Given the description of an element on the screen output the (x, y) to click on. 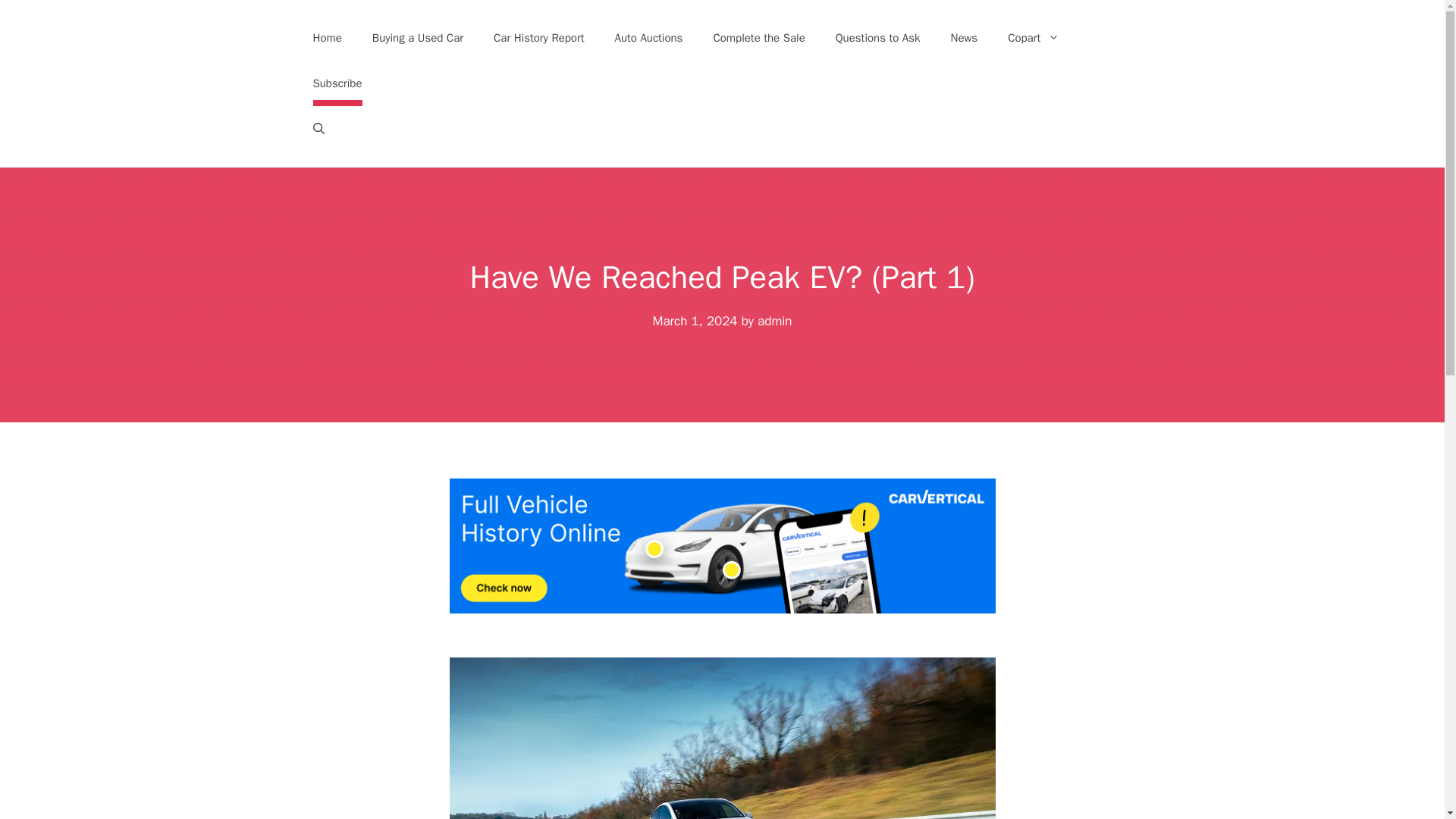
Home (326, 37)
Questions to Ask (878, 37)
View all posts by admin (774, 320)
News (964, 37)
Copart (1033, 37)
Auto Auctions (648, 37)
Subscribe (337, 83)
Car History Report (539, 37)
Complete the Sale (758, 37)
admin (774, 320)
Buying a Used Car (417, 37)
